Given the description of an element on the screen output the (x, y) to click on. 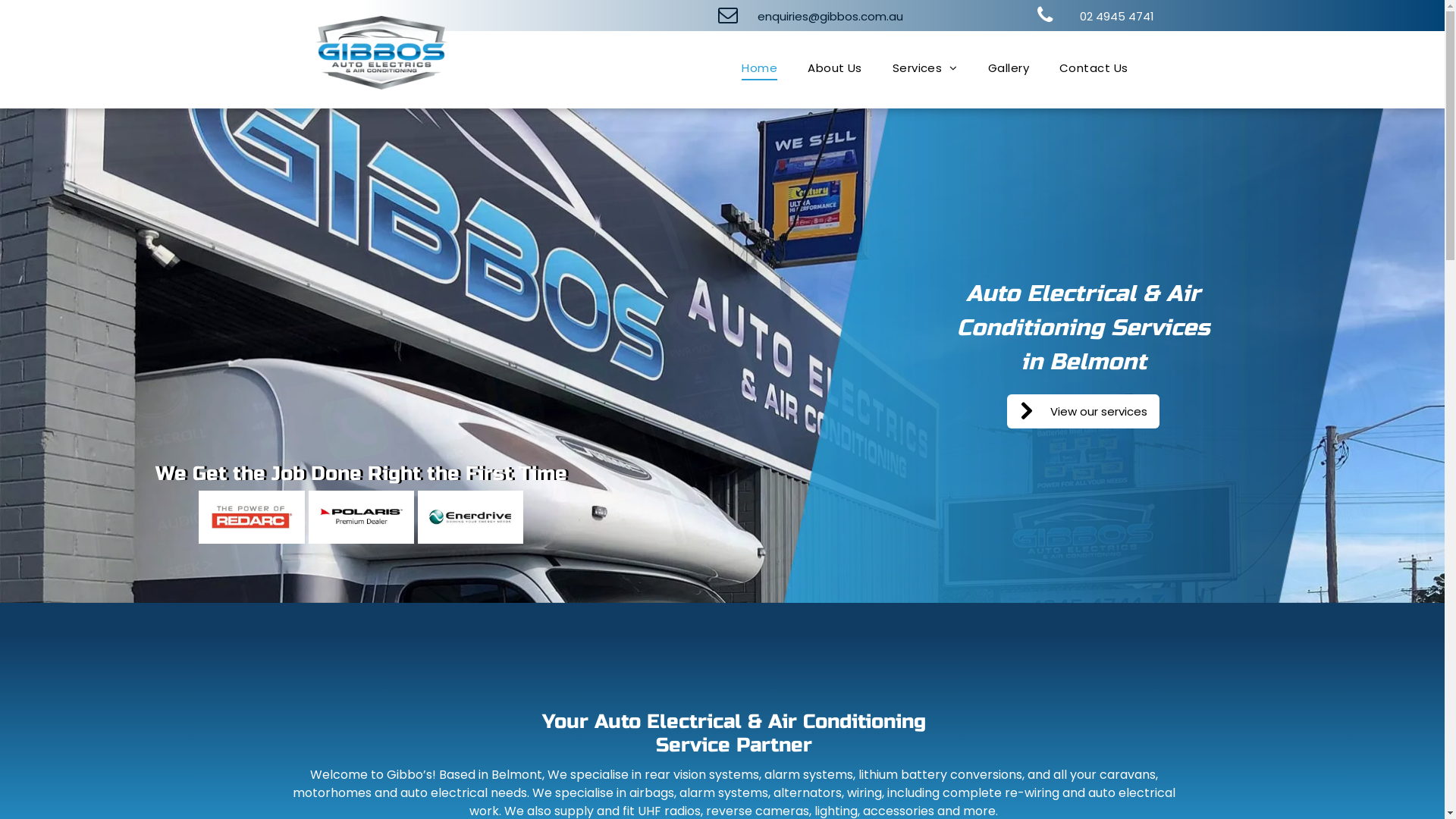
About Us Element type: text (834, 68)
Home Element type: text (759, 68)
Contact Us Element type: text (1093, 68)
View our services Element type: text (1083, 411)
Gallery Element type: text (1008, 68)
Services Element type: text (924, 68)
enquiries@gibbos.com.au Element type: text (821, 15)
02 4945 4741 Element type: text (1100, 15)
